Given the description of an element on the screen output the (x, y) to click on. 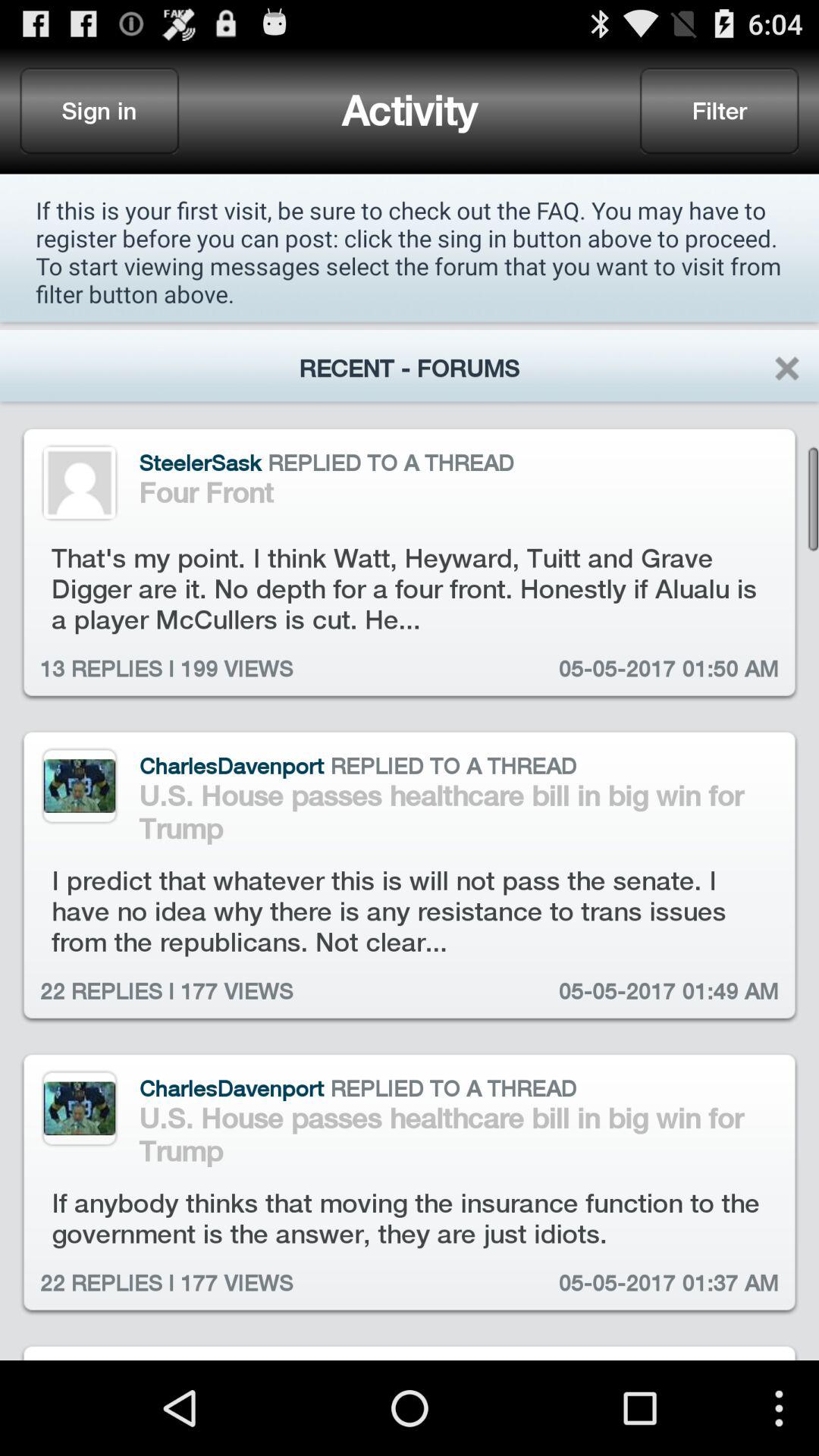
open profile picture (79, 482)
